Given the description of an element on the screen output the (x, y) to click on. 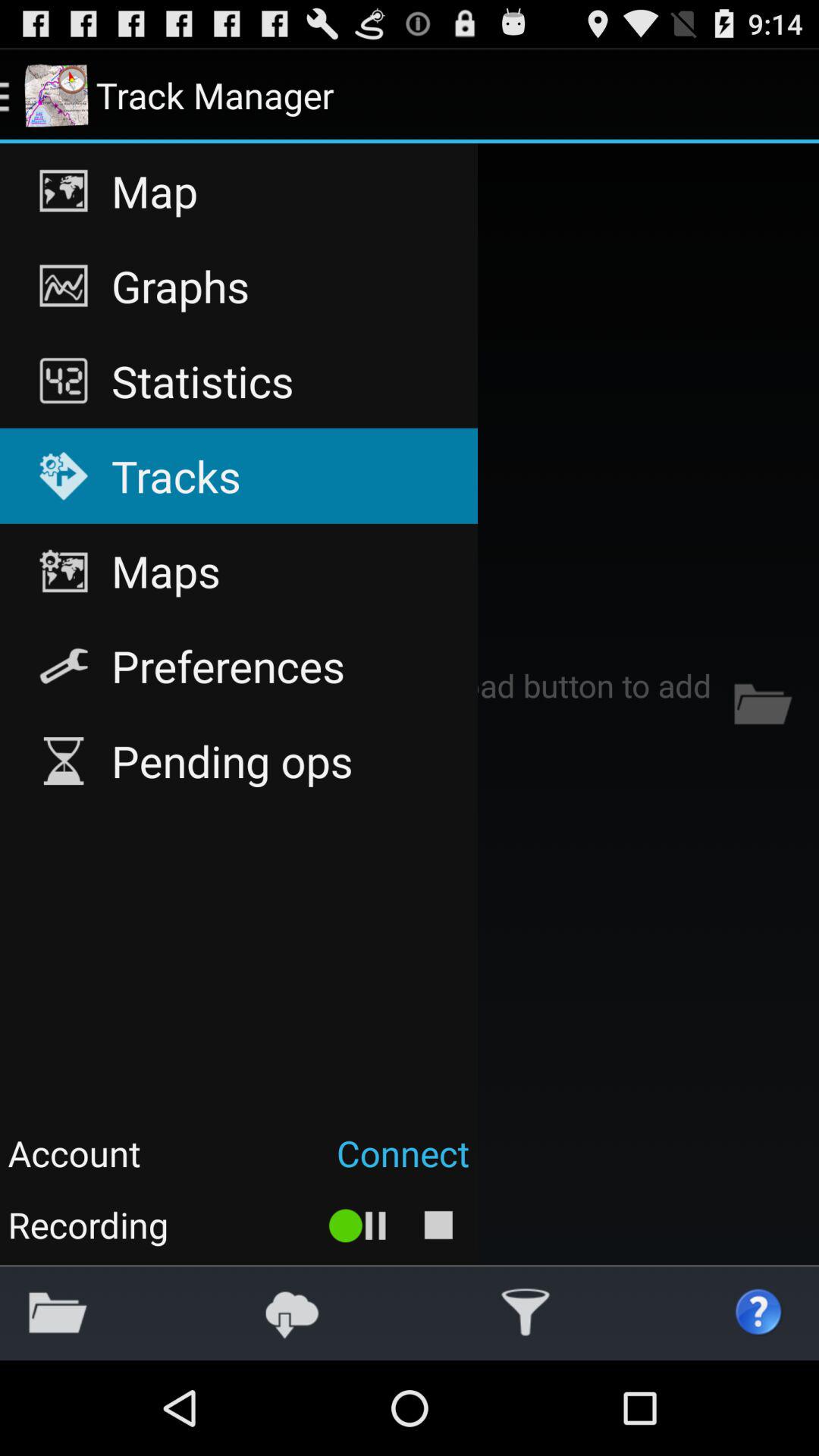
flip until graphs item (238, 285)
